Given the description of an element on the screen output the (x, y) to click on. 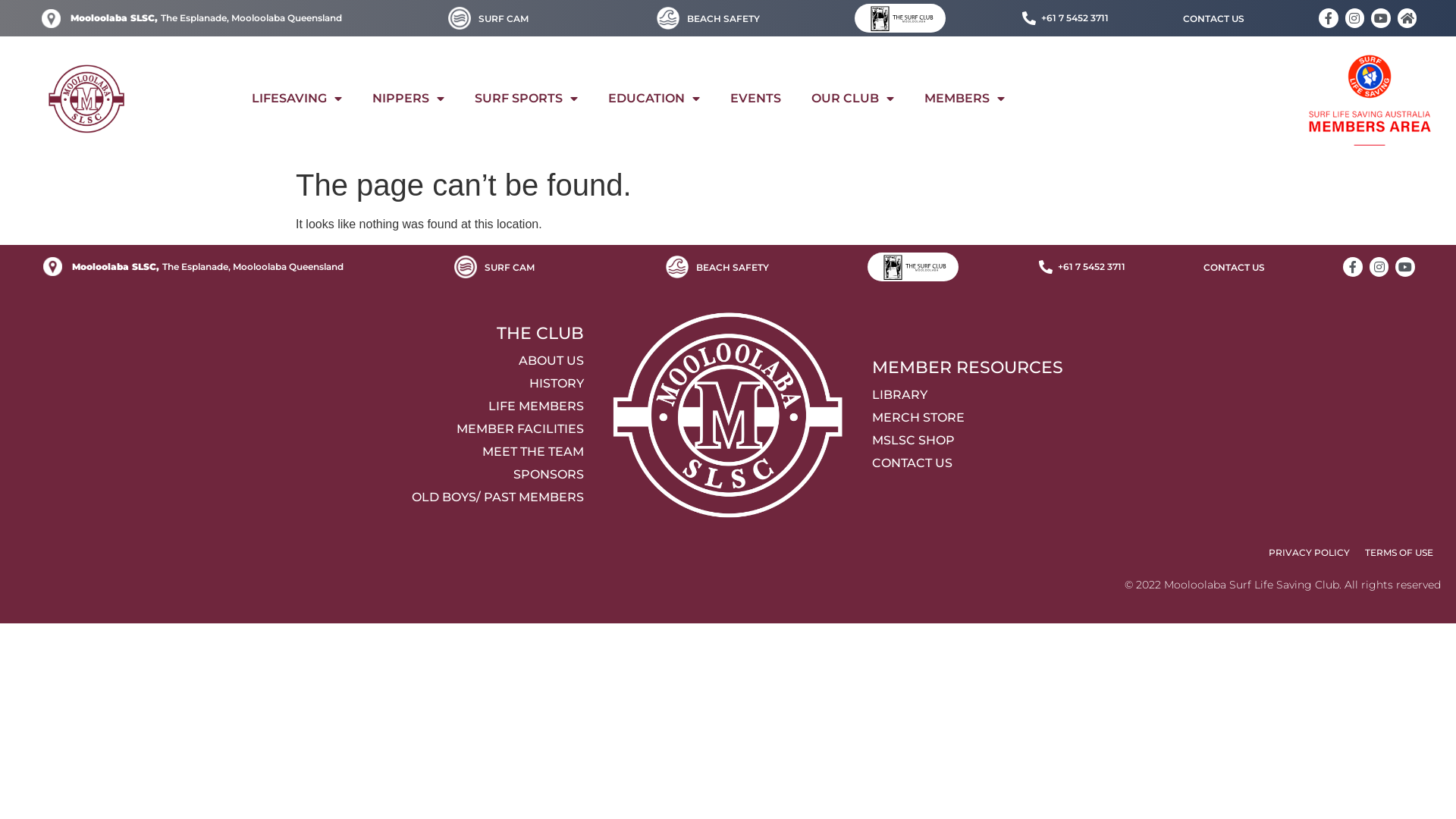
BEACH SAFETY Element type: text (723, 18)
LIBRARY Element type: text (1160, 394)
NIPPERS Element type: text (408, 98)
MERCH STORE Element type: text (1160, 417)
ABOUT US Element type: text (295, 360)
CONTACT US Element type: text (1233, 267)
EVENTS Element type: text (755, 98)
CONTACT US Element type: text (1213, 18)
LIFE MEMBERS Element type: text (295, 406)
MEMBERS Element type: text (964, 98)
BEACH SAFETY Element type: text (732, 267)
CONTACT US Element type: text (1160, 462)
TERMS OF USE Element type: text (1398, 552)
MEMBER FACILITIES Element type: text (295, 428)
SURF SPORTS Element type: text (526, 98)
MEET THE TEAM Element type: text (295, 451)
Mooloolaba SLSC, The Esplanade, Mooloolaba Queensland Element type: text (190, 18)
LIFESAVING Element type: text (296, 98)
SURF CAM Element type: text (509, 267)
HISTORY Element type: text (295, 383)
SURF CAM Element type: text (503, 18)
EDUCATION Element type: text (654, 98)
SPONSORS Element type: text (295, 474)
MSLSC SHOP Element type: text (1160, 440)
OLD BOYS/ PAST MEMBERS Element type: text (295, 497)
Mooloolaba SLSC, The Esplanade, Mooloolaba Queensland Element type: text (191, 266)
+61 7 5452 3711 Element type: text (1081, 266)
+61 7 5452 3711 Element type: text (1063, 18)
OUR CLUB Element type: text (852, 98)
PRIVACY POLICY Element type: text (1309, 552)
